Given the description of an element on the screen output the (x, y) to click on. 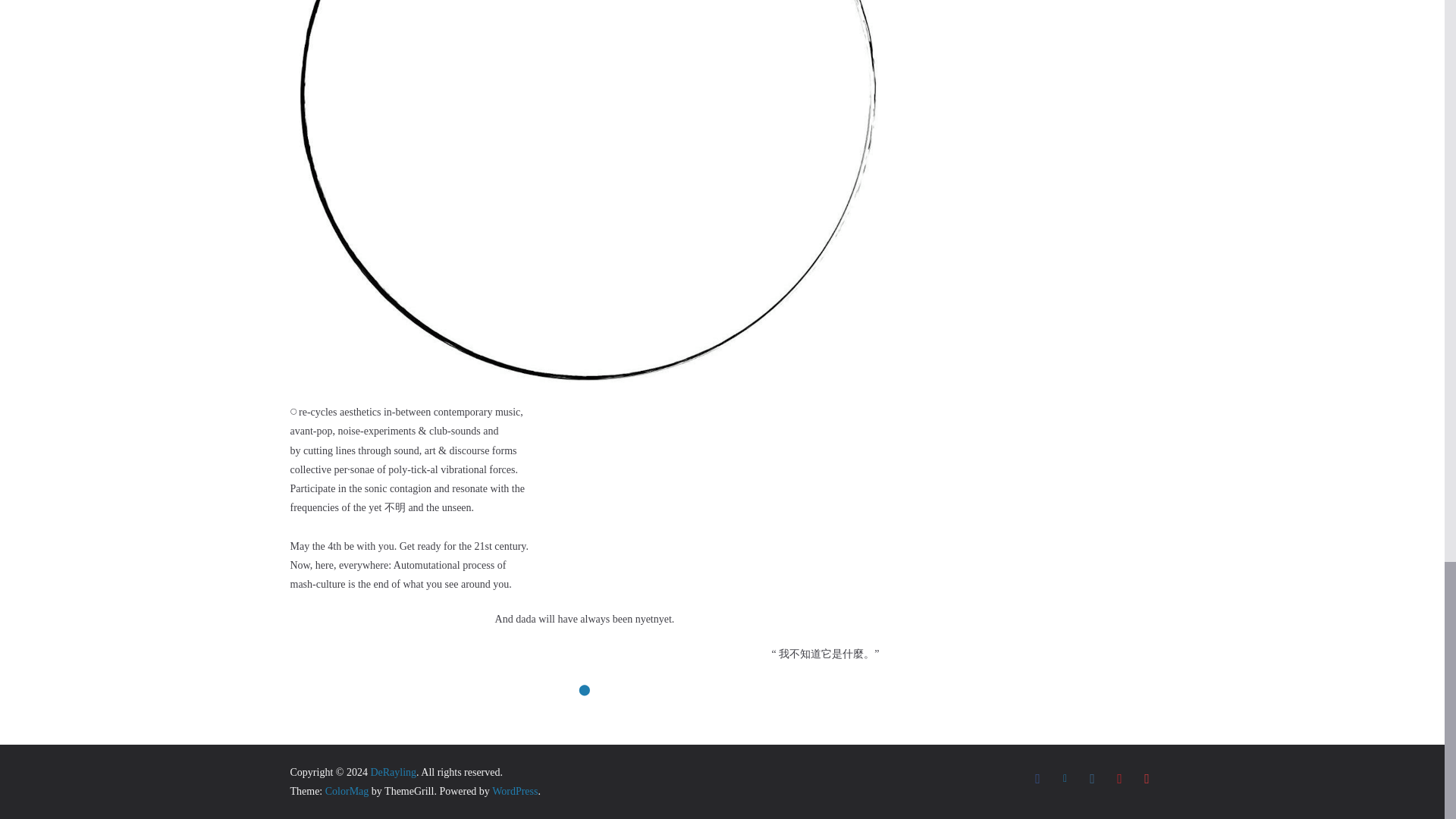
WordPress (514, 790)
DeRayling (392, 772)
DeRayling (392, 772)
ColorMag (346, 790)
ColorMag (346, 790)
WordPress (514, 790)
